Given the description of an element on the screen output the (x, y) to click on. 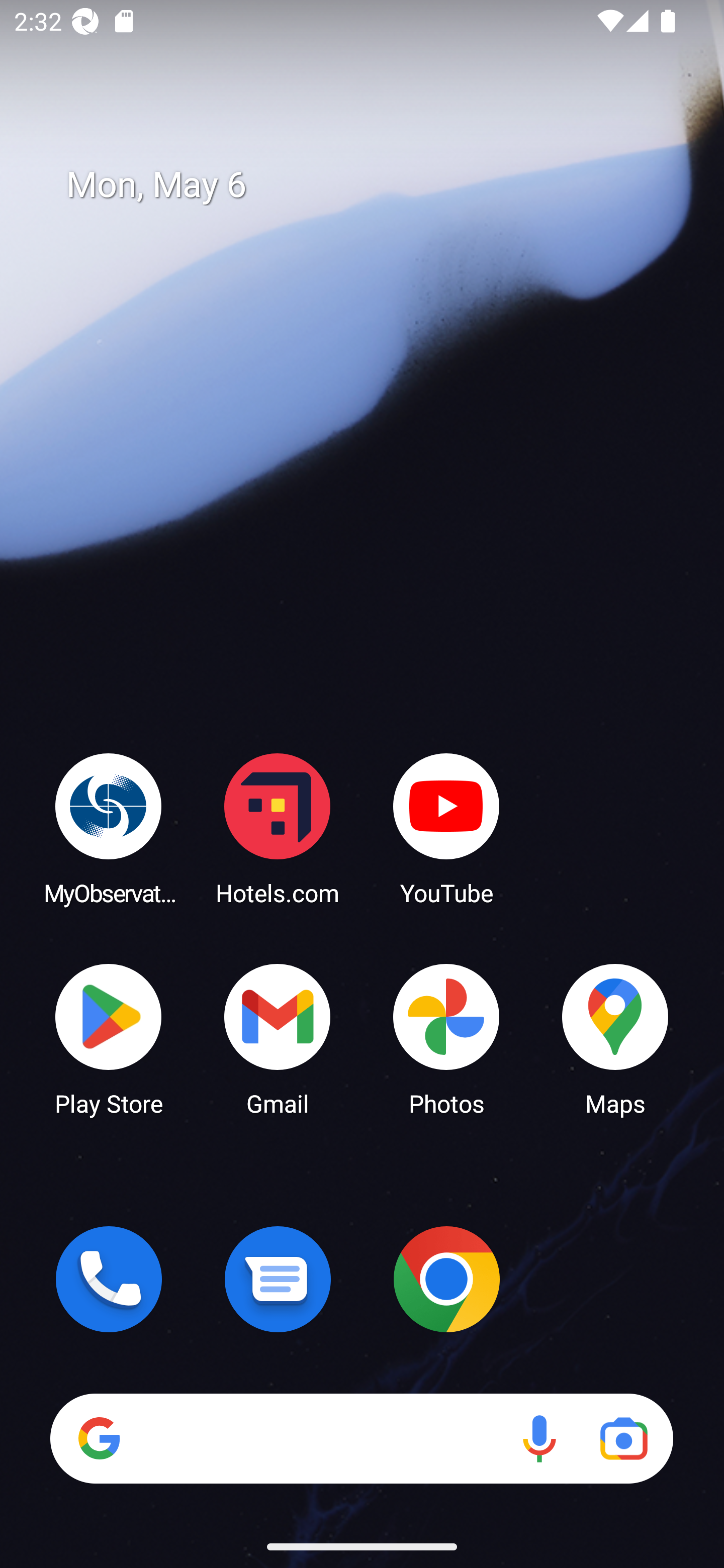
Mon, May 6 (375, 184)
MyObservatory (108, 828)
Hotels.com (277, 828)
YouTube (445, 828)
Play Store (108, 1038)
Gmail (277, 1038)
Photos (445, 1038)
Maps (615, 1038)
Phone (108, 1279)
Messages (277, 1279)
Chrome (446, 1279)
Search Voice search Google Lens (361, 1438)
Voice search (539, 1438)
Google Lens (623, 1438)
